Given the description of an element on the screen output the (x, y) to click on. 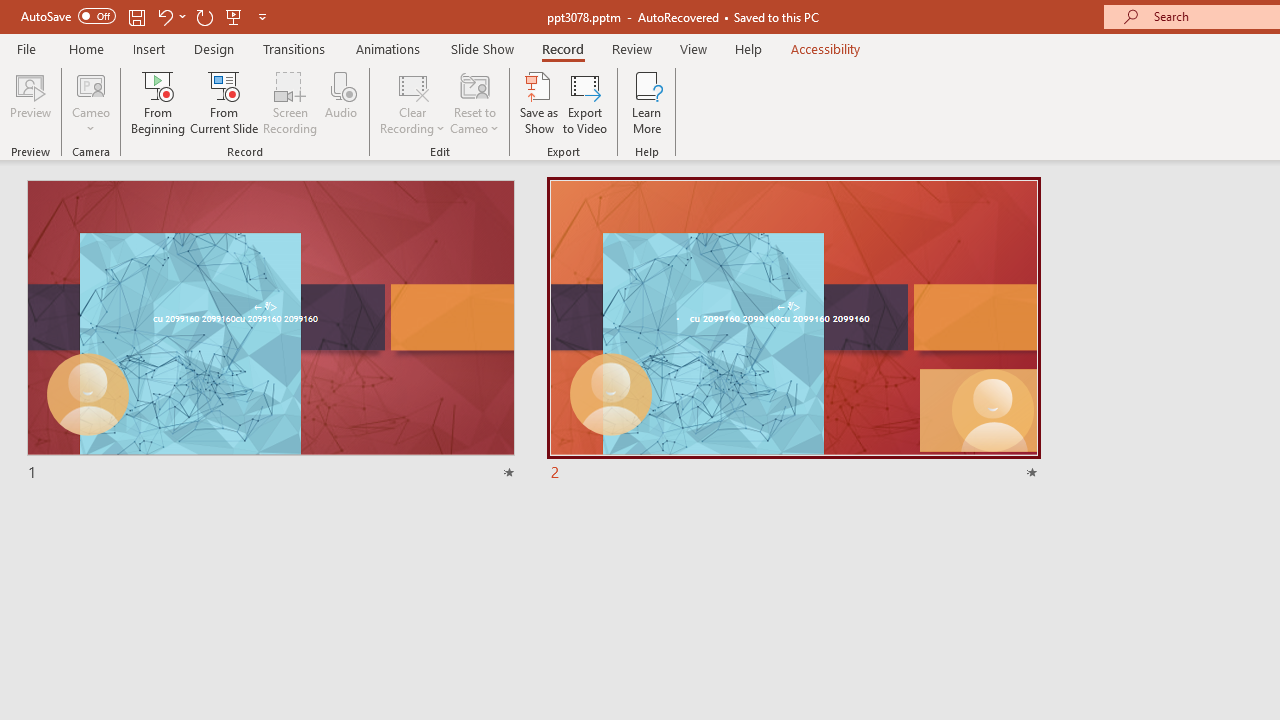
Save as Show (539, 102)
Learn More (646, 102)
From Current Slide... (224, 102)
From Beginning... (158, 102)
Screen Recording (290, 102)
Clear Recording (412, 102)
